Given the description of an element on the screen output the (x, y) to click on. 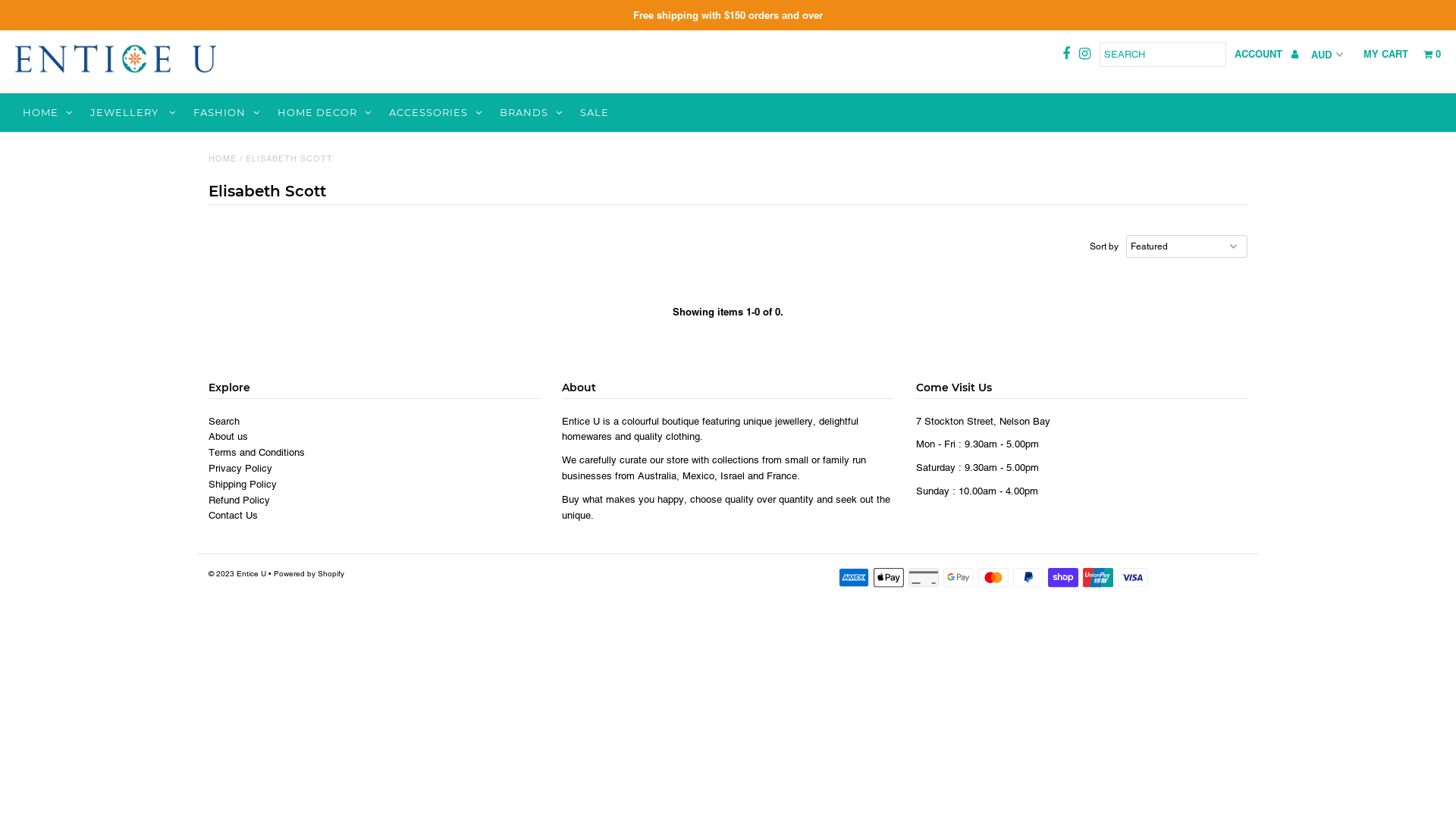
JEWELLERY Element type: text (132, 112)
HOME Element type: text (47, 112)
Refund Policy Element type: text (238, 499)
MY CART   0 Element type: text (1401, 53)
Contact Us Element type: text (232, 514)
Privacy Policy Element type: text (240, 467)
About us Element type: text (227, 436)
ACCESSORIES Element type: text (435, 112)
ACCOUNT Element type: text (1266, 53)
FASHION Element type: text (226, 112)
7 Stockton Street, Nelson Bay Element type: text (983, 420)
Powered by Shopify Element type: text (308, 573)
Search Element type: text (223, 420)
BRANDS Element type: text (531, 112)
HOME DECOR Element type: text (324, 112)
SALE Element type: text (594, 112)
Terms and Conditions Element type: text (256, 452)
Shipping Policy Element type: text (242, 483)
HOME Element type: text (222, 158)
